Given the description of an element on the screen output the (x, y) to click on. 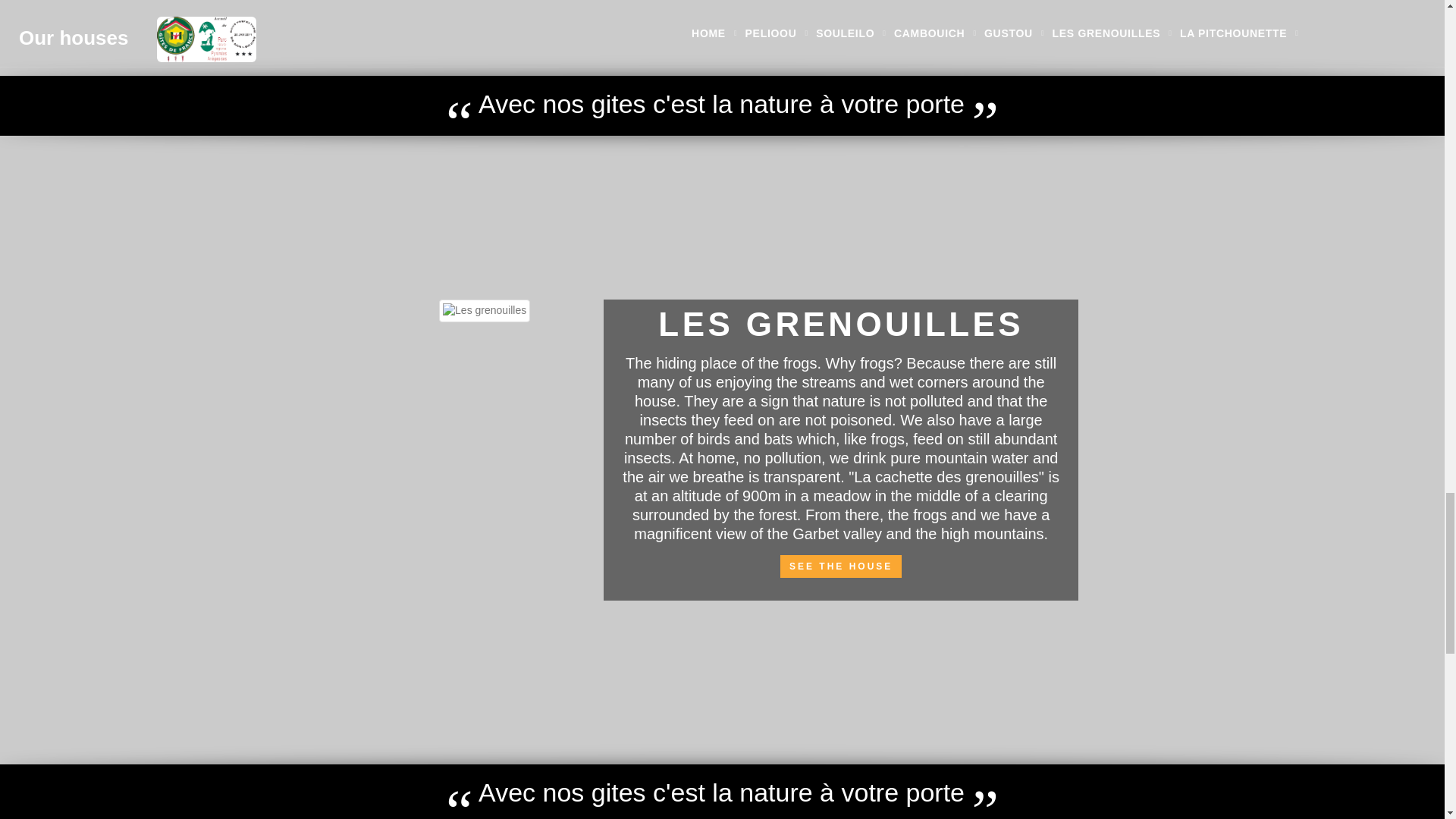
SEE THE HOUSE (840, 566)
